Given the description of an element on the screen output the (x, y) to click on. 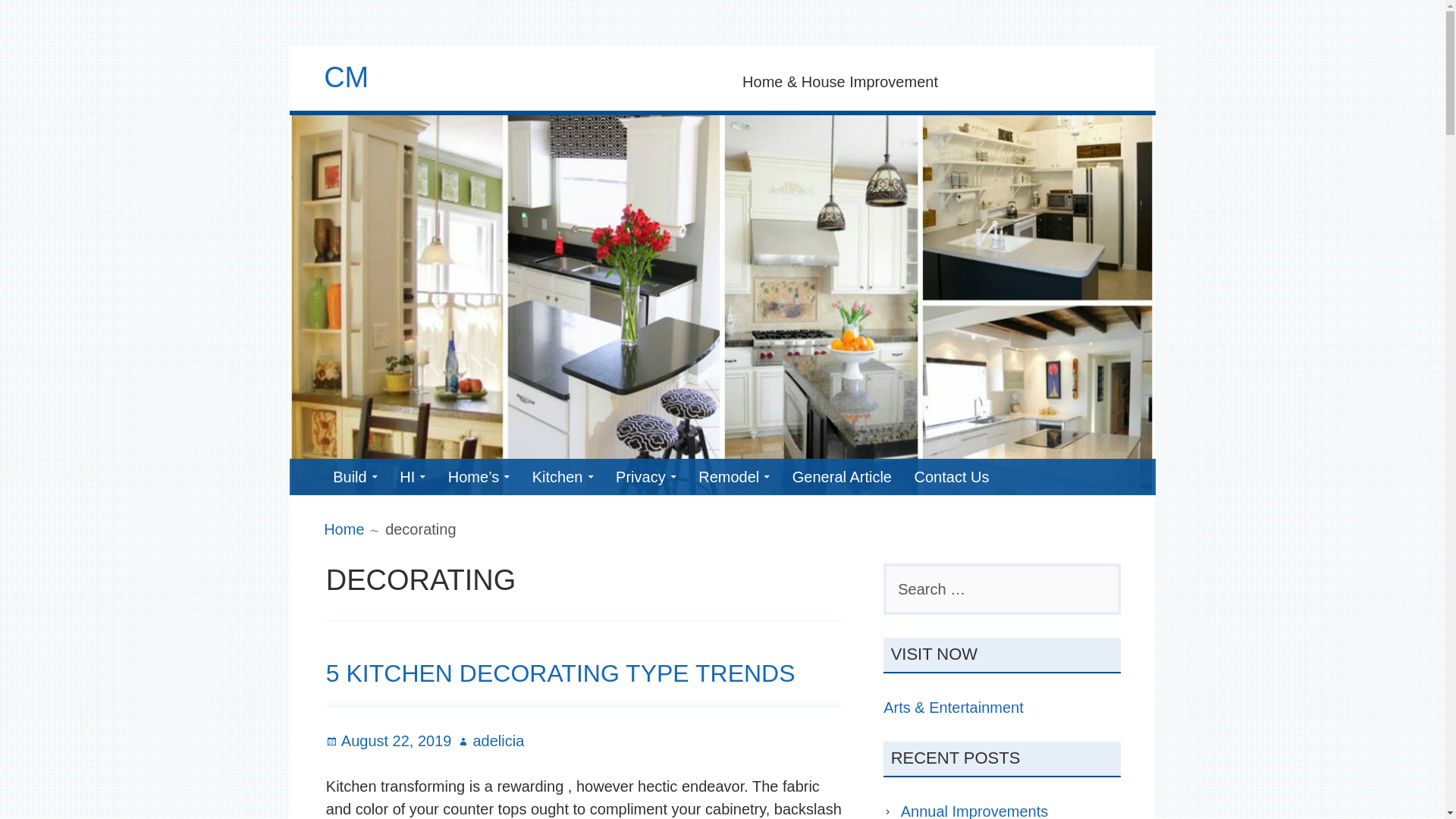
General Article (842, 476)
Privacy (646, 476)
5 KITCHEN DECORATING TYPE TRENDS (560, 673)
Home (343, 528)
Kitchen (562, 476)
CM (345, 77)
August 22, 2019 (388, 740)
Contact Us (951, 476)
Remodel (733, 476)
adelicia (490, 740)
Build (354, 476)
HI (411, 476)
